Given the description of an element on the screen output the (x, y) to click on. 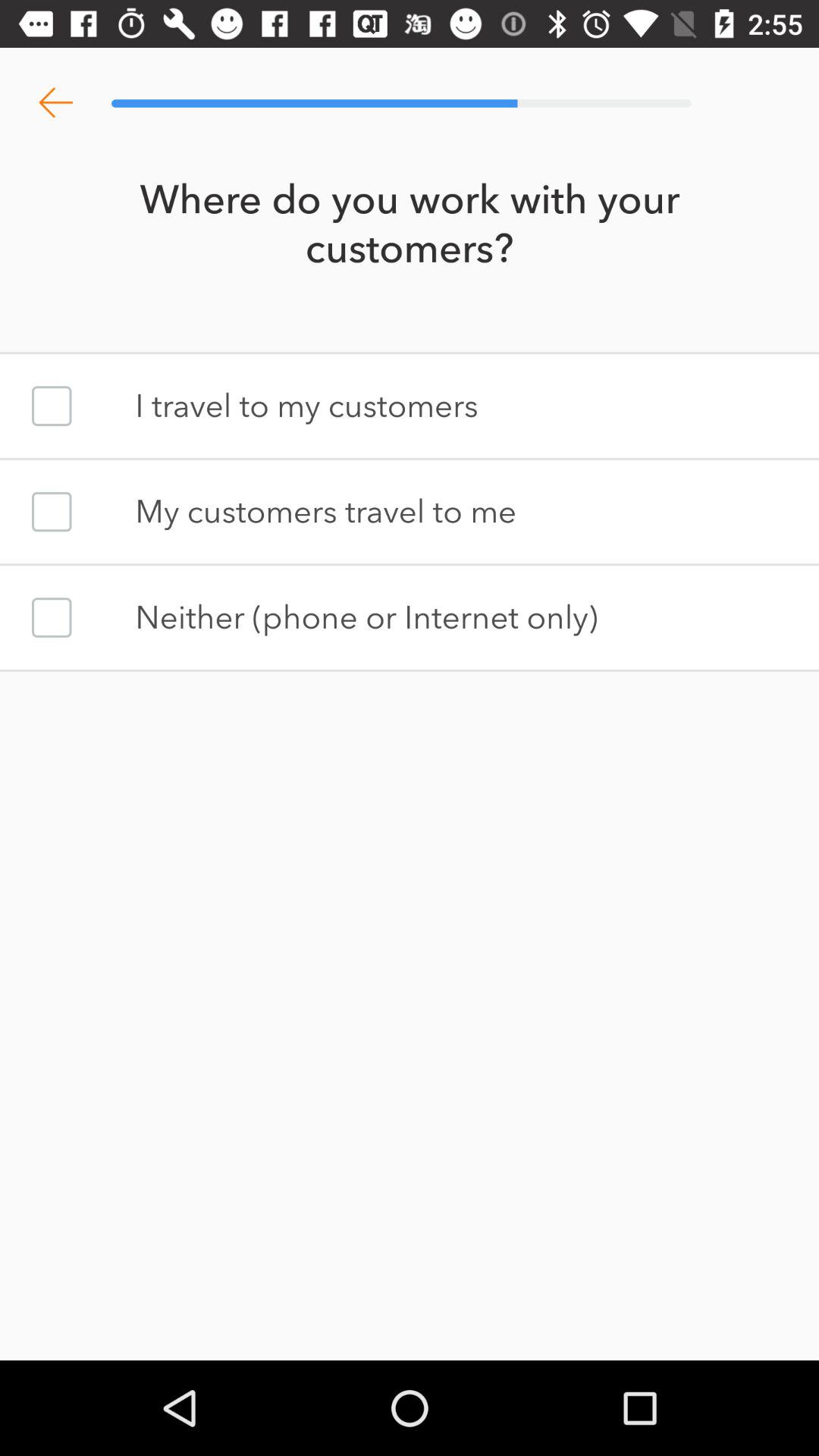
toggle option for neither (51, 617)
